Given the description of an element on the screen output the (x, y) to click on. 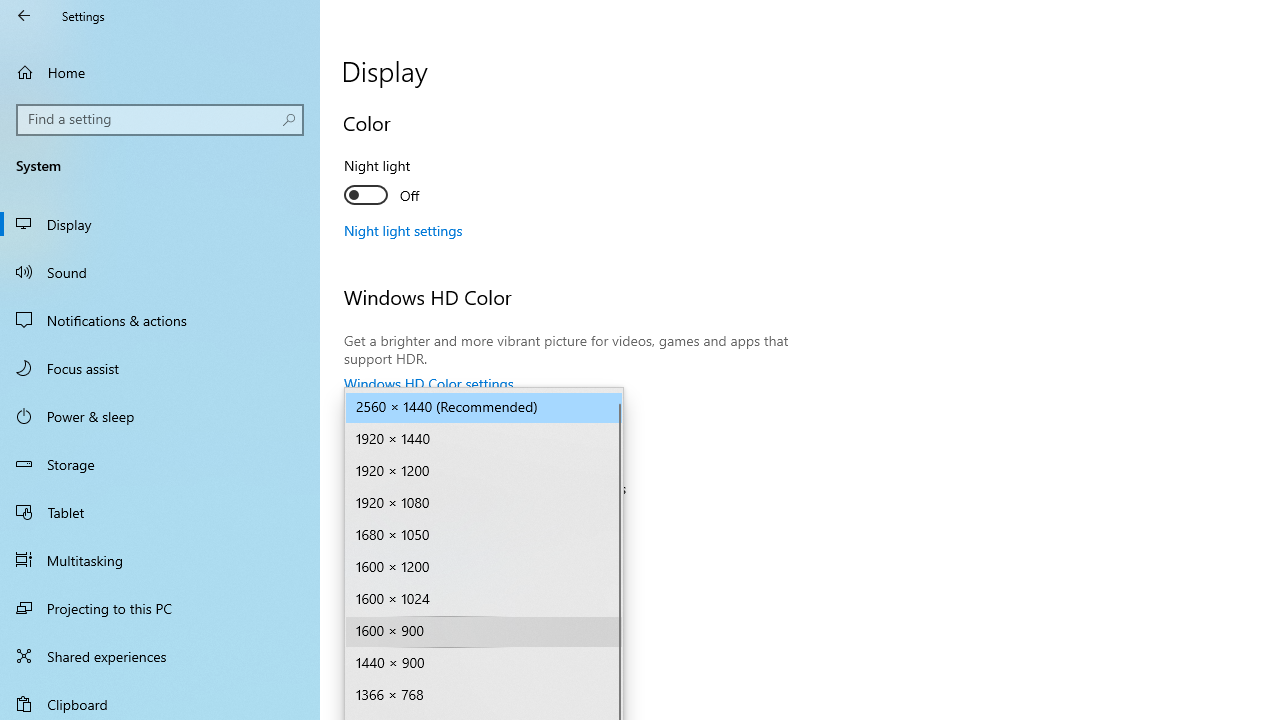
Night light settings (403, 230)
Storage (160, 463)
Change the size of text, apps, and other items (484, 521)
Search box, Find a setting (160, 119)
Power & sleep (160, 415)
Tablet (160, 511)
Sound (160, 271)
Notifications & actions (160, 319)
Shared experiences (160, 655)
Night light (417, 183)
